Given the description of an element on the screen output the (x, y) to click on. 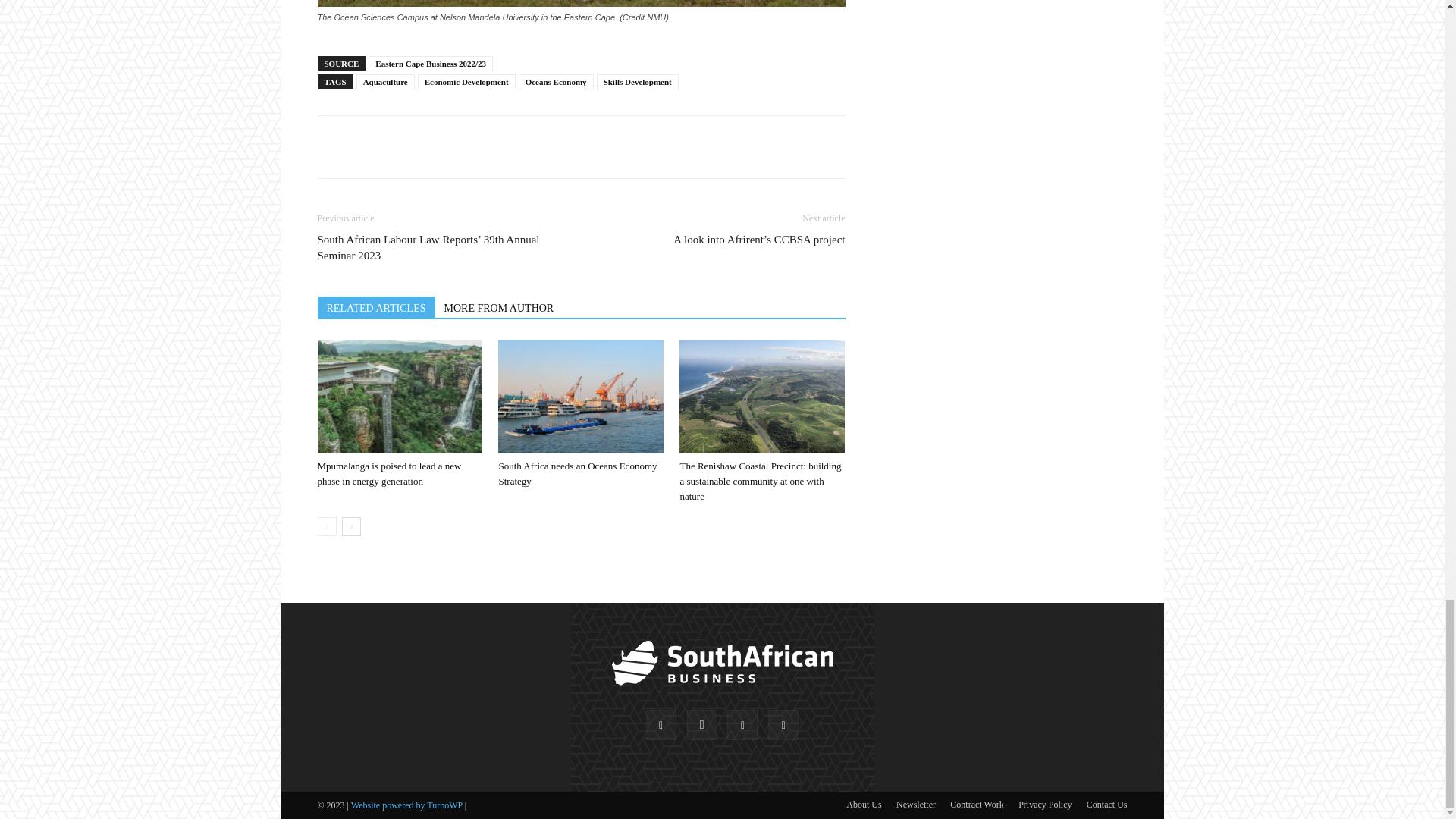
Facebook (661, 725)
South Africa needs an Oceans Economy Strategy (576, 473)
Instagram (702, 725)
South Africa needs an Oceans Economy Strategy (580, 396)
